Given the description of an element on the screen output the (x, y) to click on. 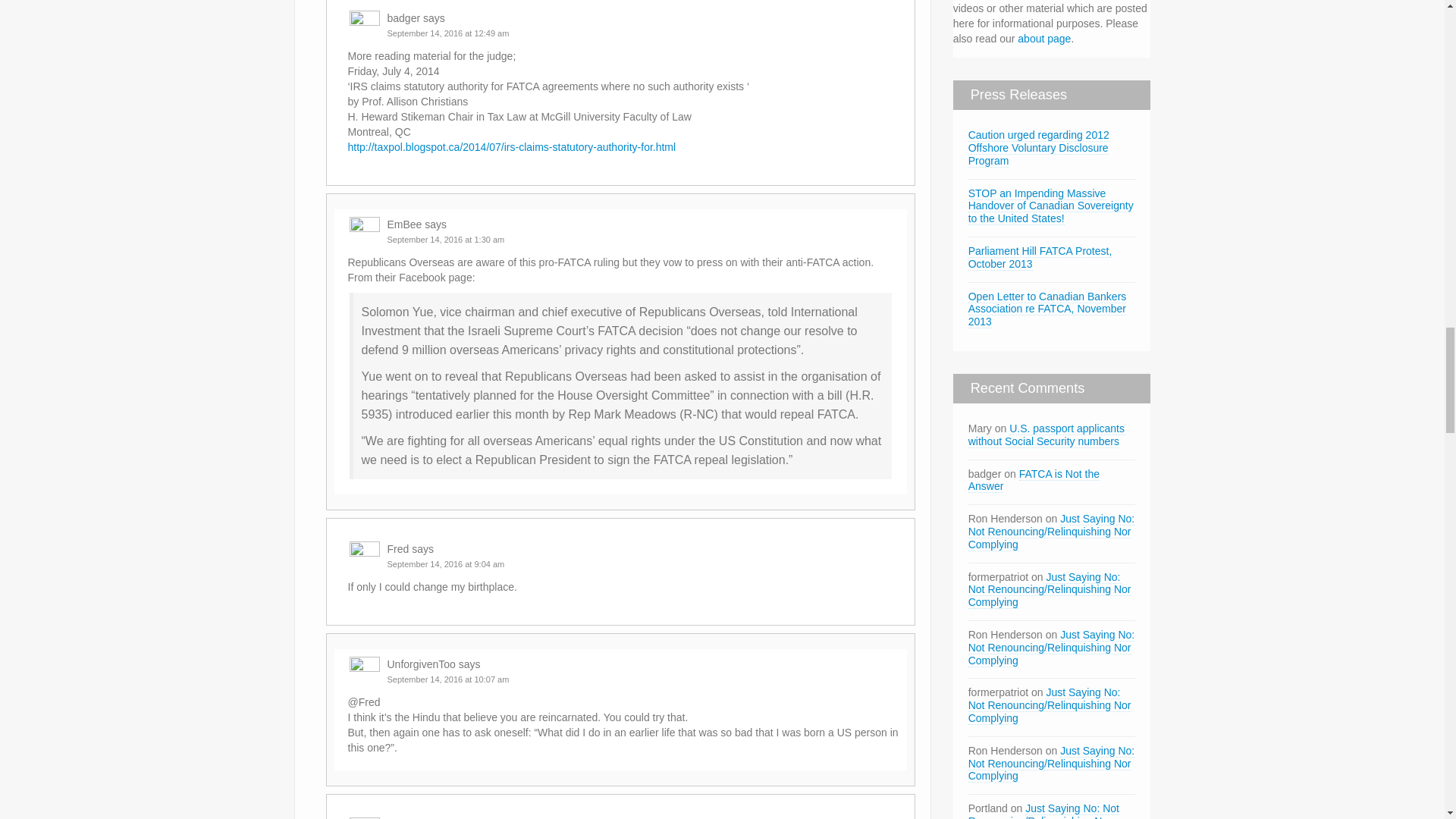
September 14, 2016 at 12:49 am (447, 32)
